Given the description of an element on the screen output the (x, y) to click on. 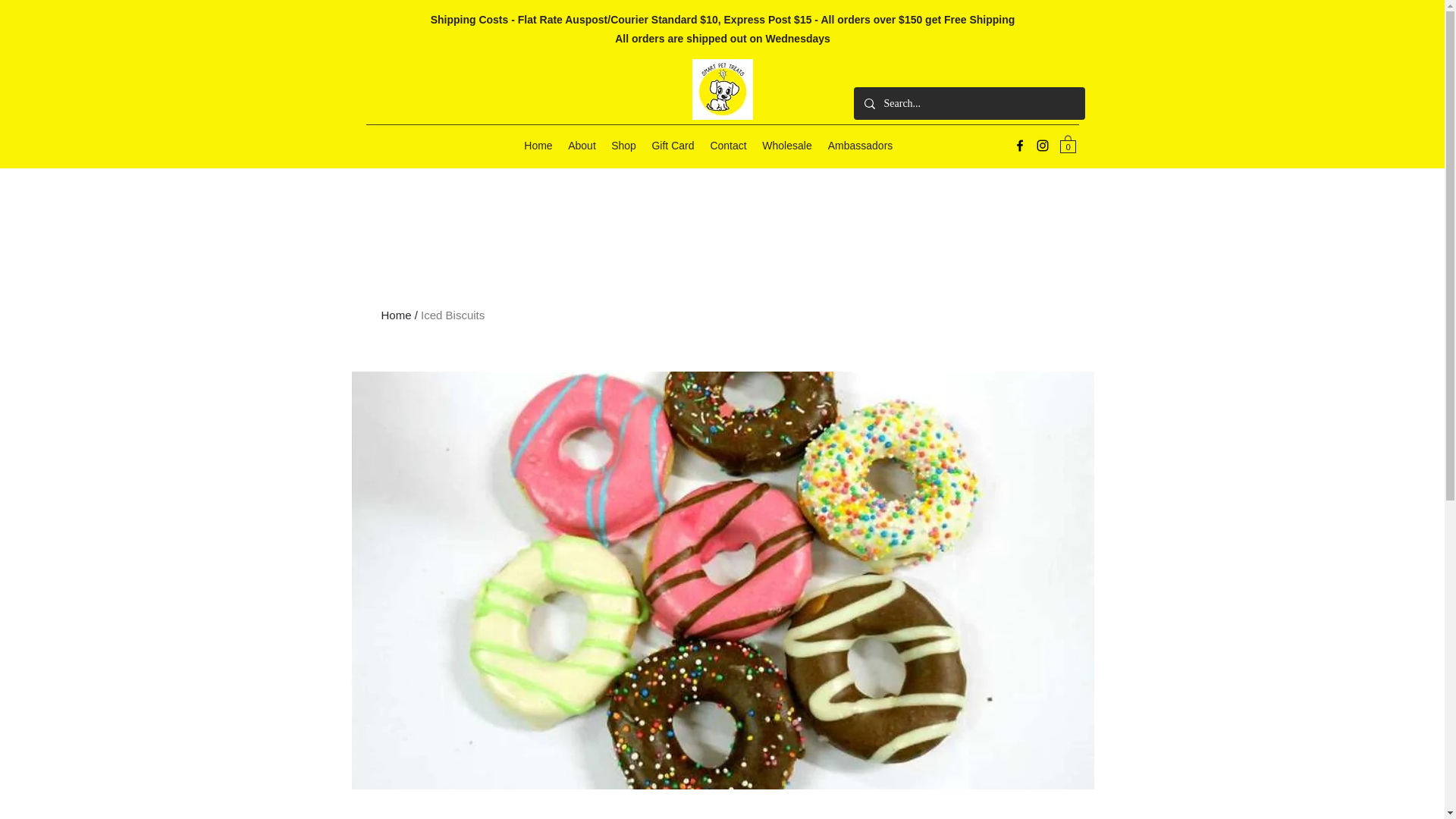
Shop (623, 145)
Contact (727, 145)
About (582, 145)
Home (538, 145)
Ambassadors (860, 145)
Home (395, 314)
Gift Card (672, 145)
Wholesale (786, 145)
Iced Biscuits (452, 314)
